Given the description of an element on the screen output the (x, y) to click on. 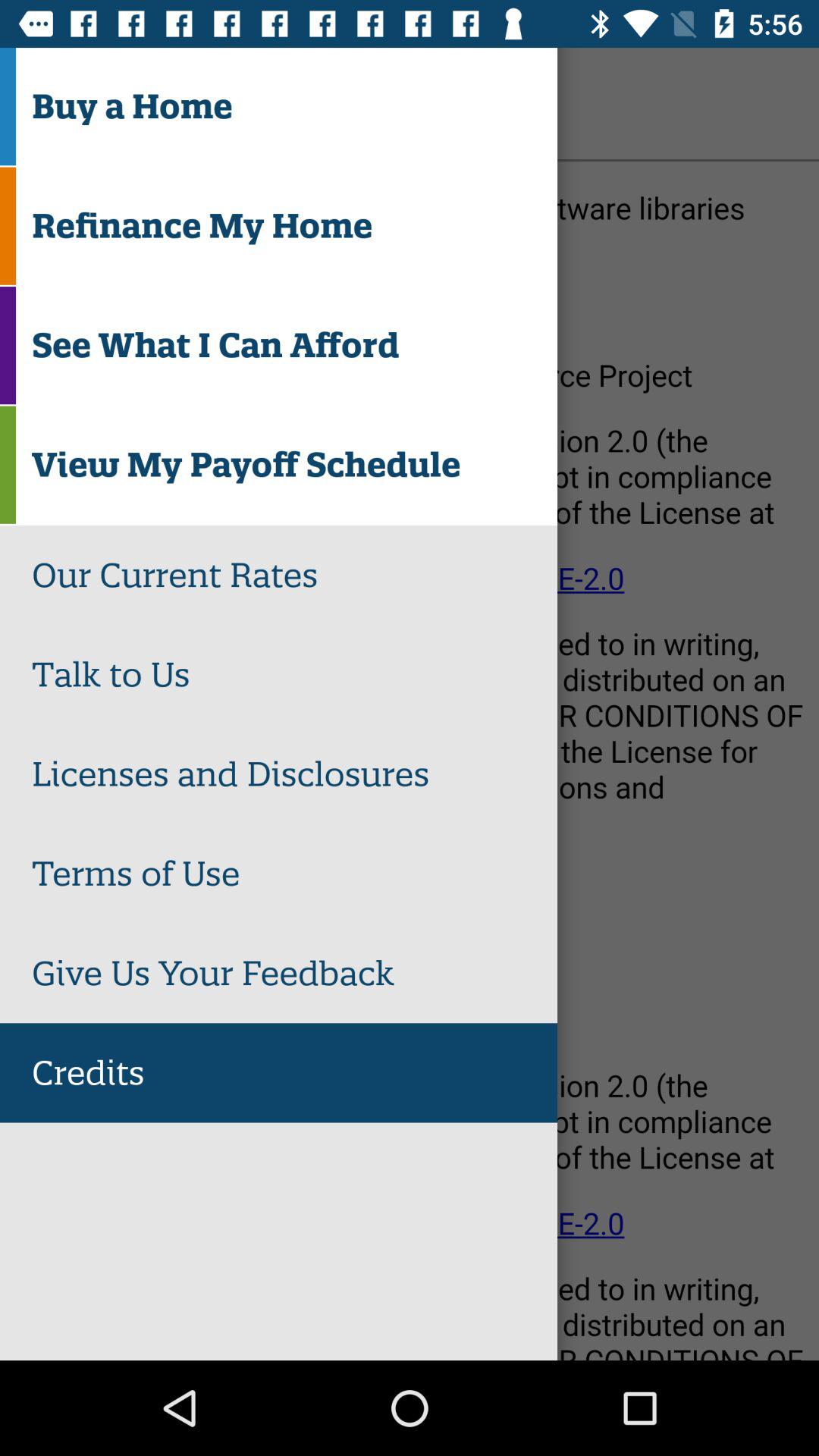
turn on icon below terms of use item (294, 973)
